Given the description of an element on the screen output the (x, y) to click on. 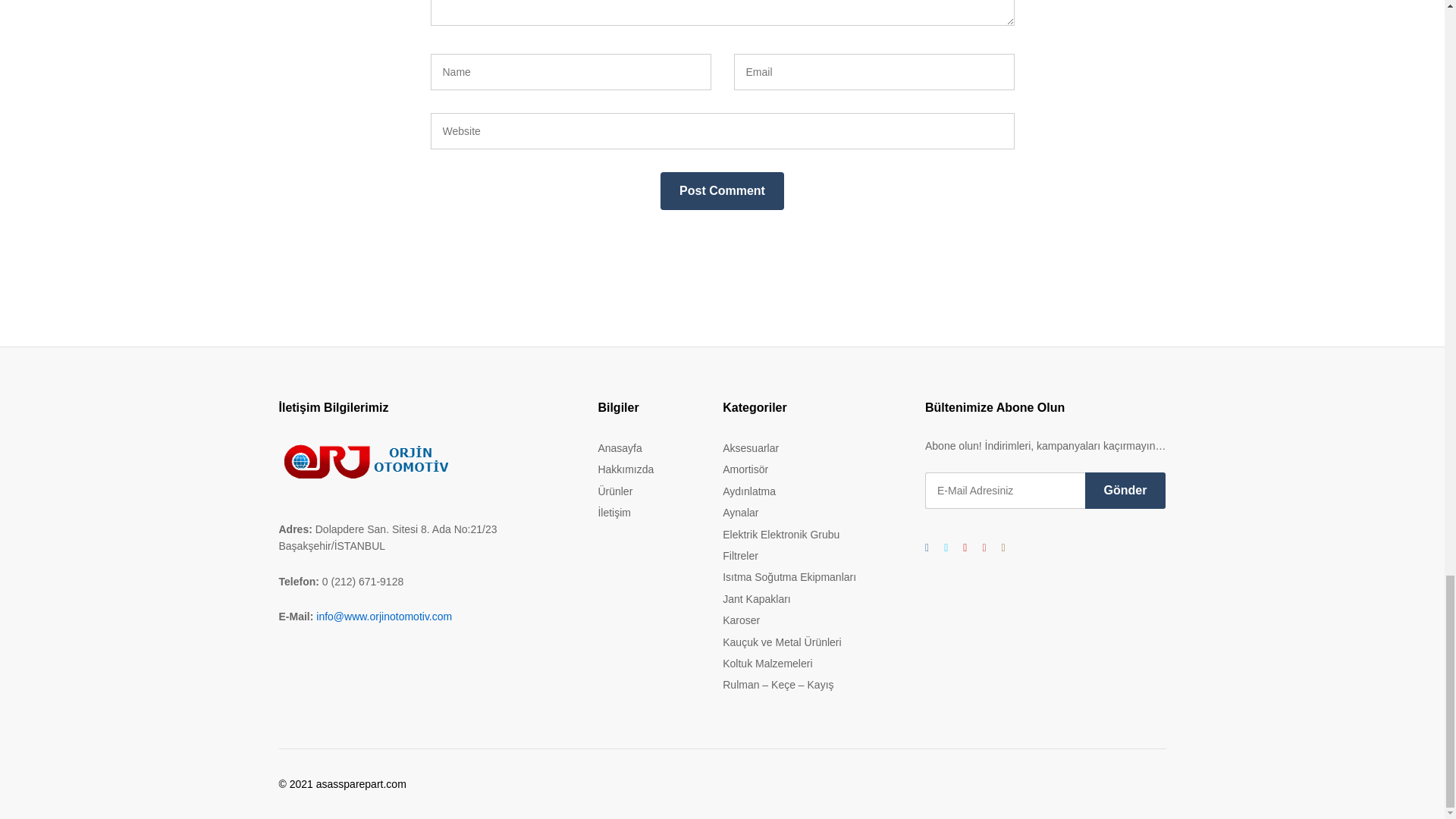
Post Comment (722, 190)
Youtube (983, 547)
Facebook (926, 547)
Instagram (1001, 547)
Twitter (945, 547)
Google Plus (964, 547)
